Given the description of an element on the screen output the (x, y) to click on. 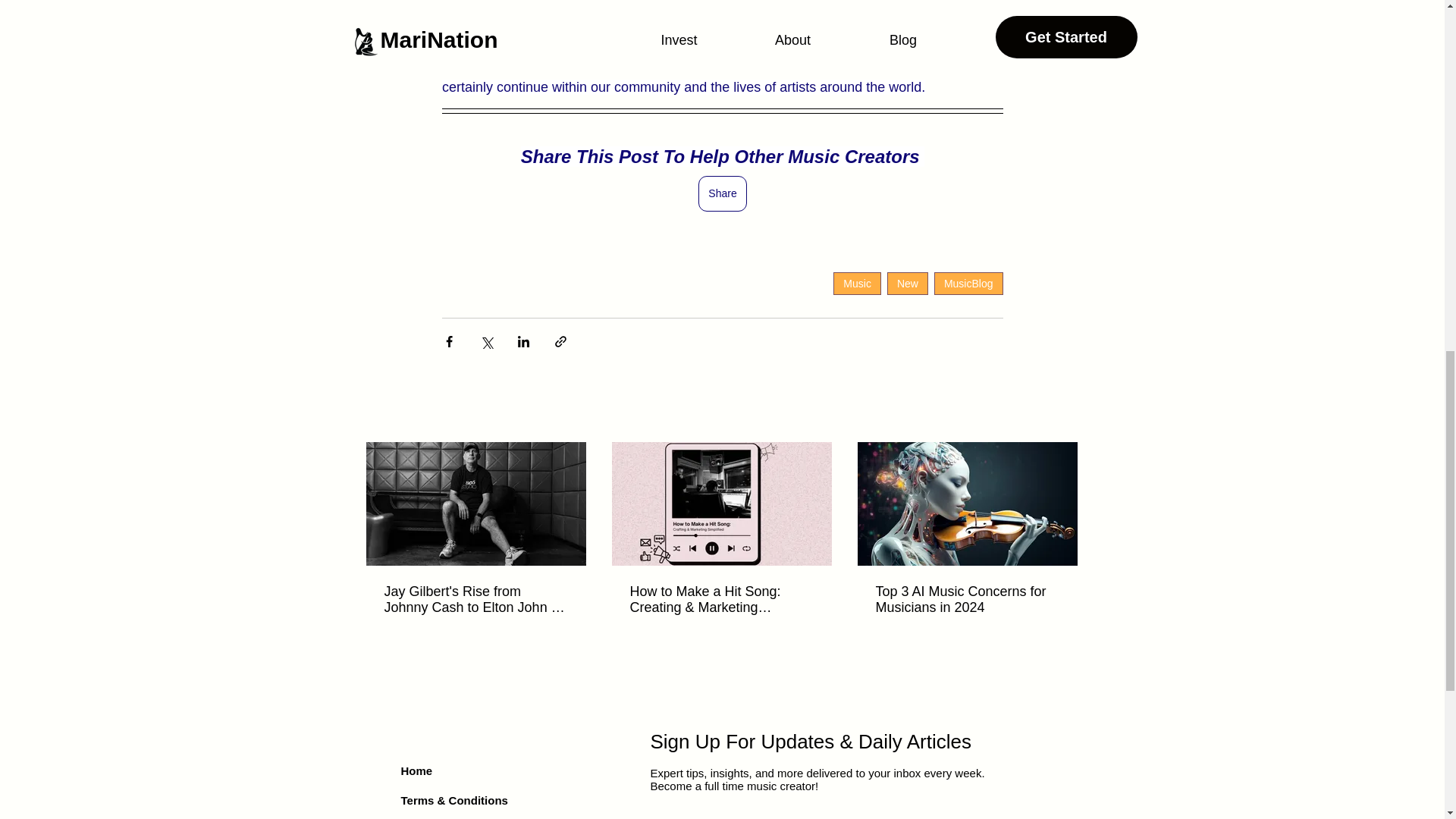
MusicBlog (968, 282)
Share (721, 193)
Music (856, 282)
New (907, 282)
Top 3 AI Music Concerns for Musicians in 2024 (966, 599)
Home (416, 770)
